Given the description of an element on the screen output the (x, y) to click on. 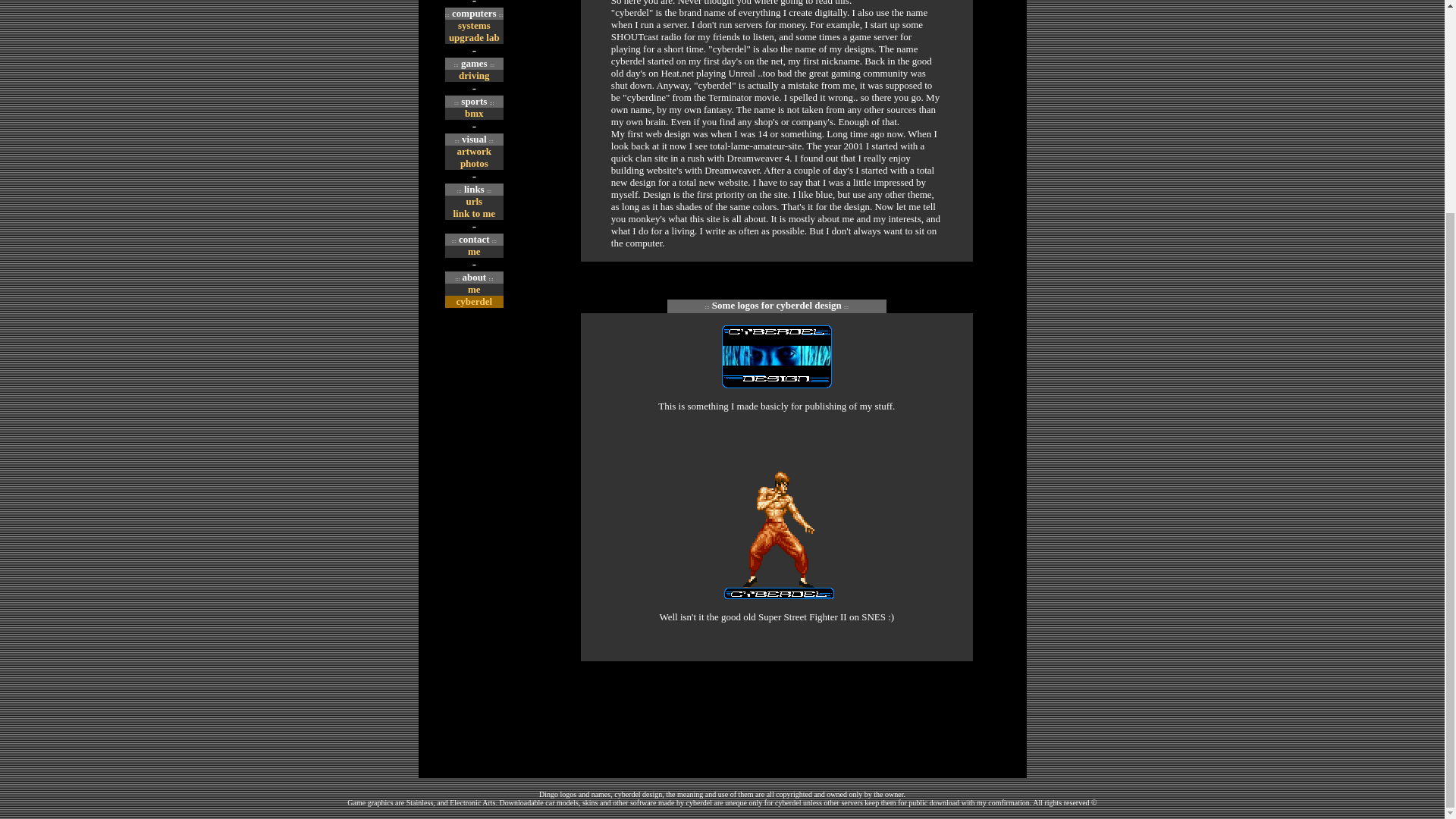
me (473, 251)
upgrade lab (473, 37)
cyberdel (473, 301)
photos (473, 163)
systems (474, 25)
driving (473, 75)
link to me (474, 213)
artwork (474, 151)
bmx (473, 112)
urls (473, 201)
